Given the description of an element on the screen output the (x, y) to click on. 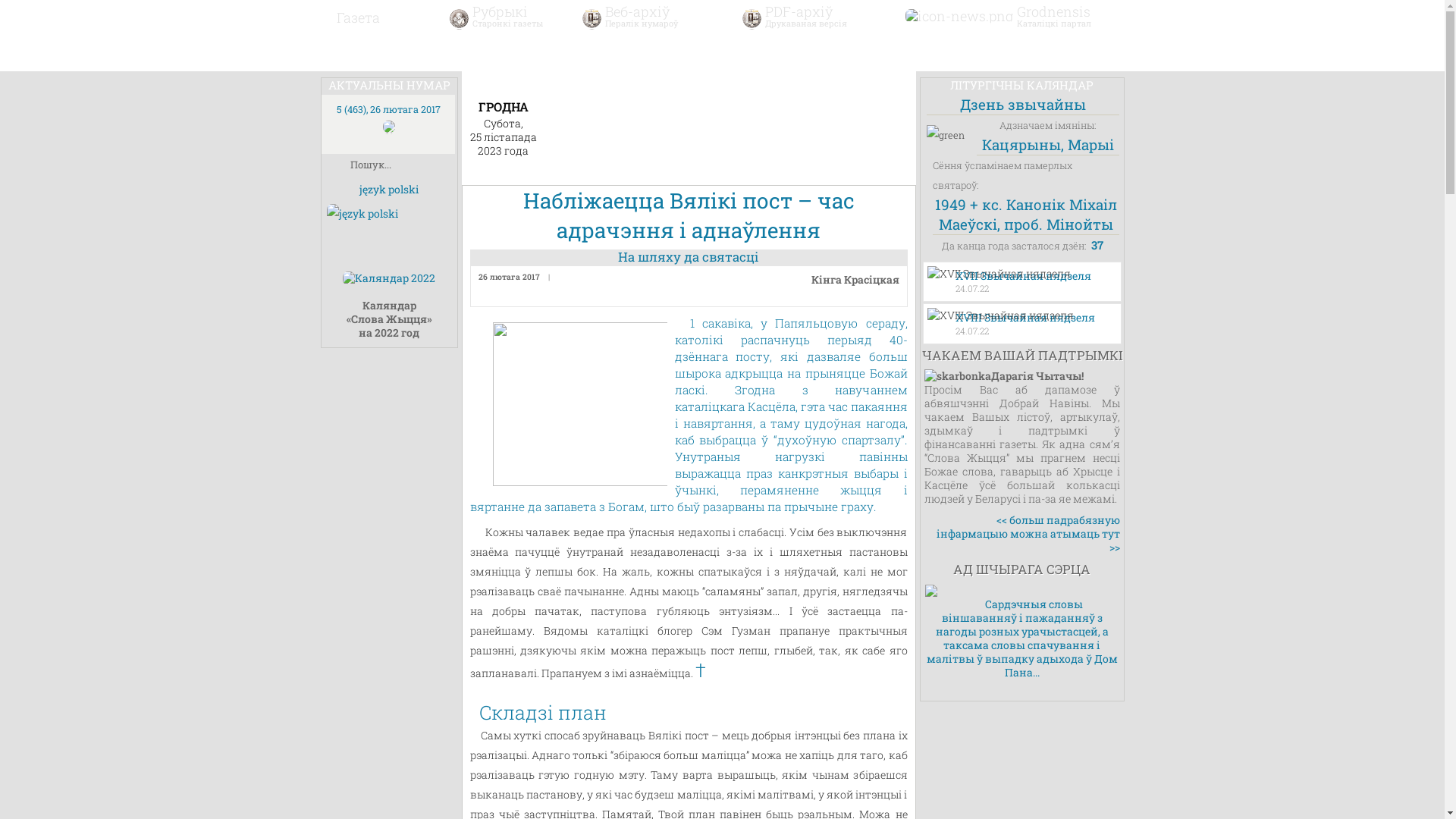
         Element type: text (352, 53)
